Given the description of an element on the screen output the (x, y) to click on. 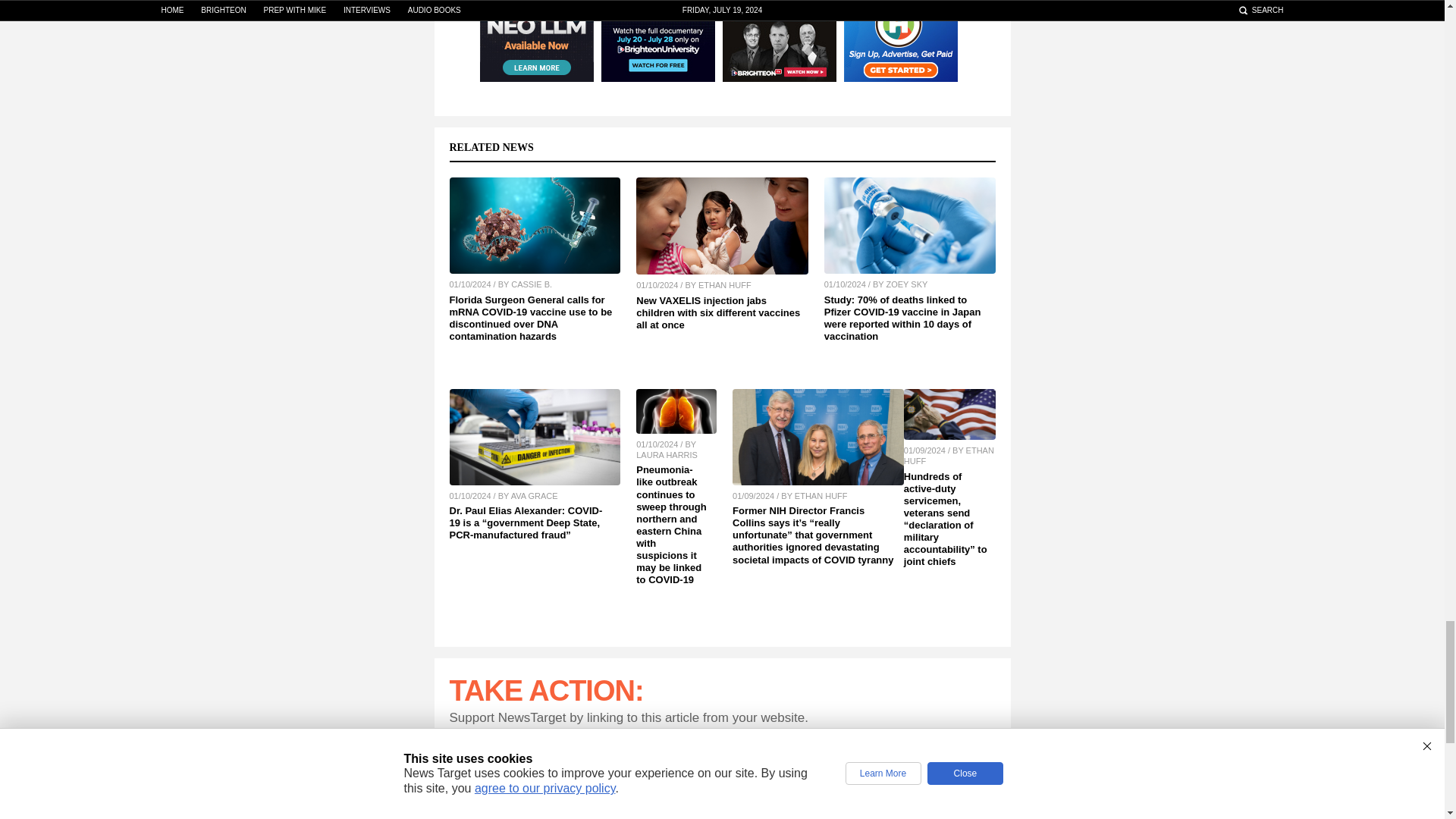
Copy Permalink (971, 779)
